Given the description of an element on the screen output the (x, y) to click on. 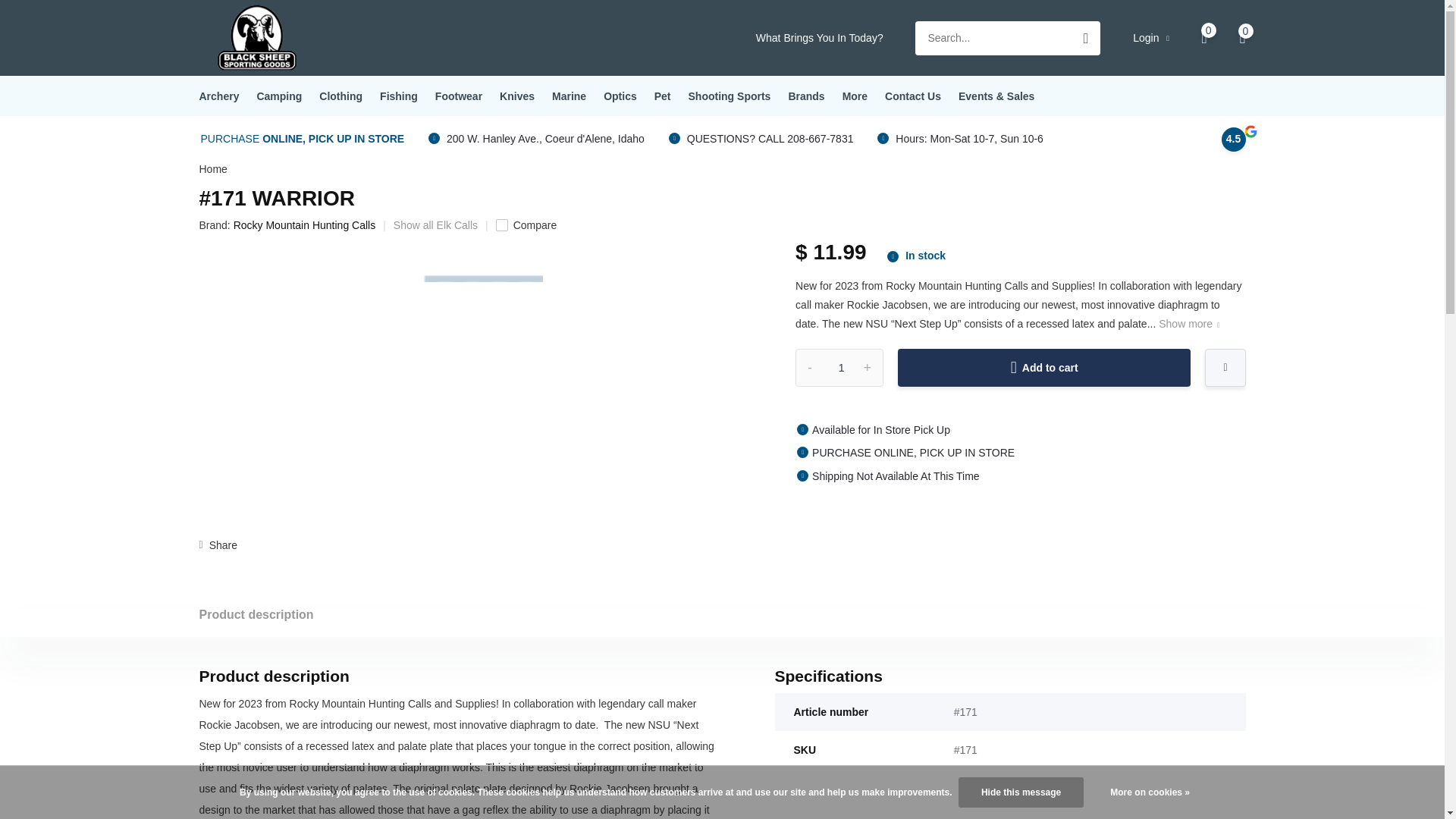
Contact Us (912, 96)
Clothing (340, 96)
Fishing (398, 96)
Shooting Sports (729, 96)
Shooting Sports (729, 96)
Camping (278, 96)
Archery (218, 96)
Brands (805, 96)
Contact Us (912, 96)
What Brings You In Today? (819, 37)
